Given the description of an element on the screen output the (x, y) to click on. 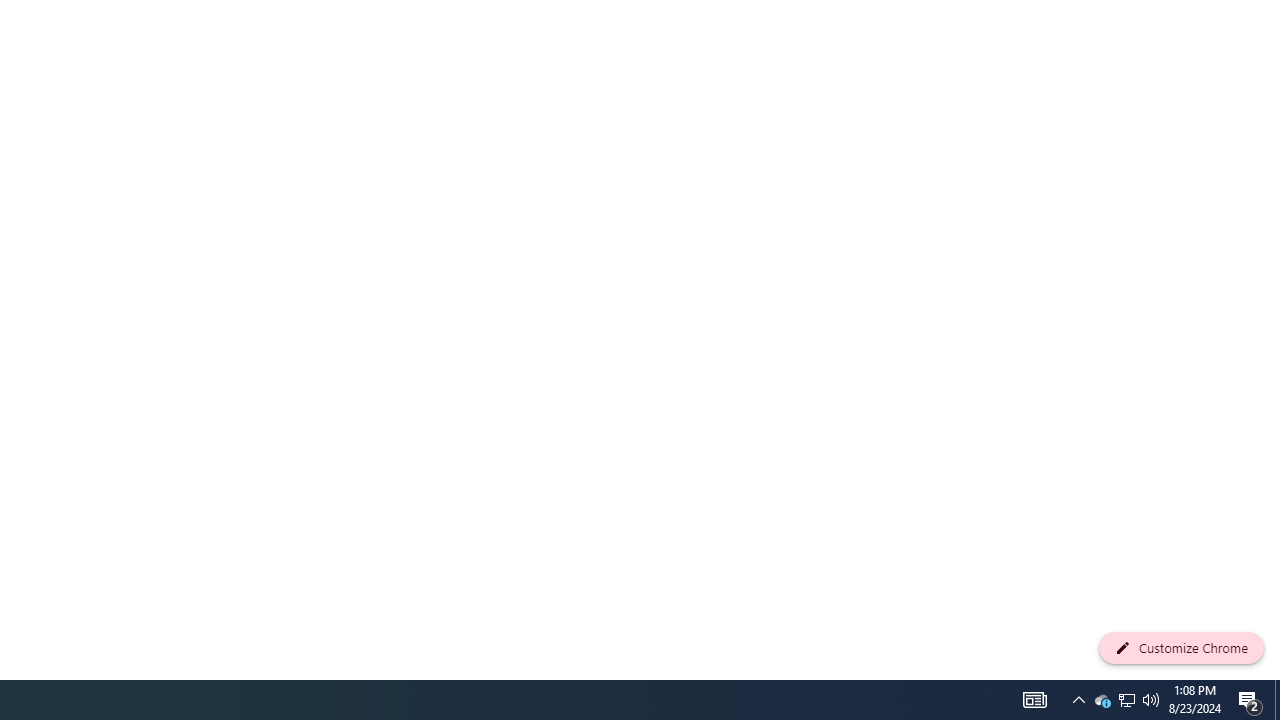
Action Center, 2 new notifications (1250, 699)
AutomationID: 4105 (1126, 699)
Q2790: 100% (1034, 699)
Show desktop (1151, 699)
User Promoted Notification Area (1277, 699)
Notification Chevron (1102, 699)
